Given the description of an element on the screen output the (x, y) to click on. 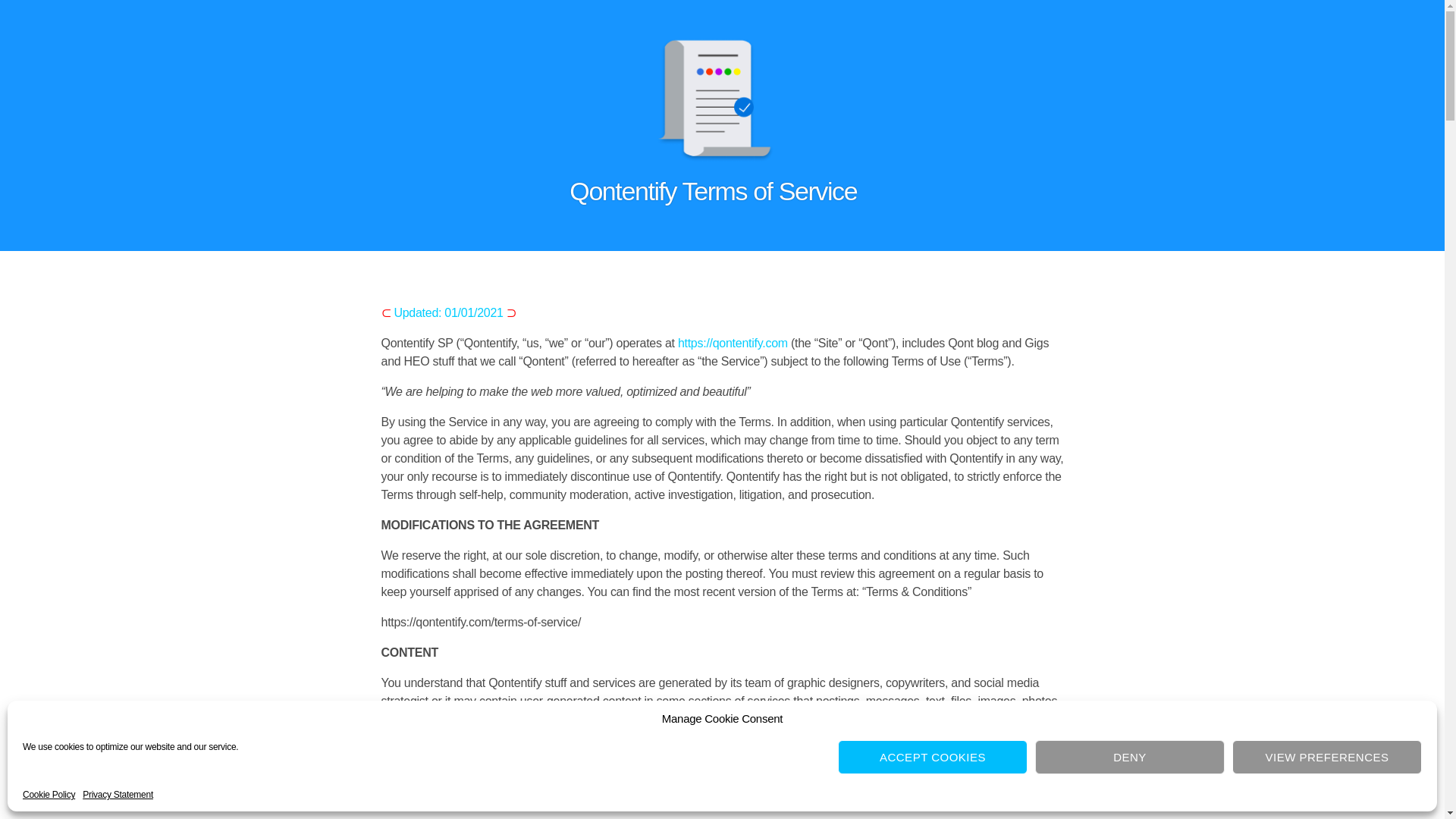
ACCEPT COOKIES (932, 756)
DENY (1129, 756)
VIEW PREFERENCES (1326, 756)
Cookie Policy (49, 794)
Privacy Statement (117, 794)
